Given the description of an element on the screen output the (x, y) to click on. 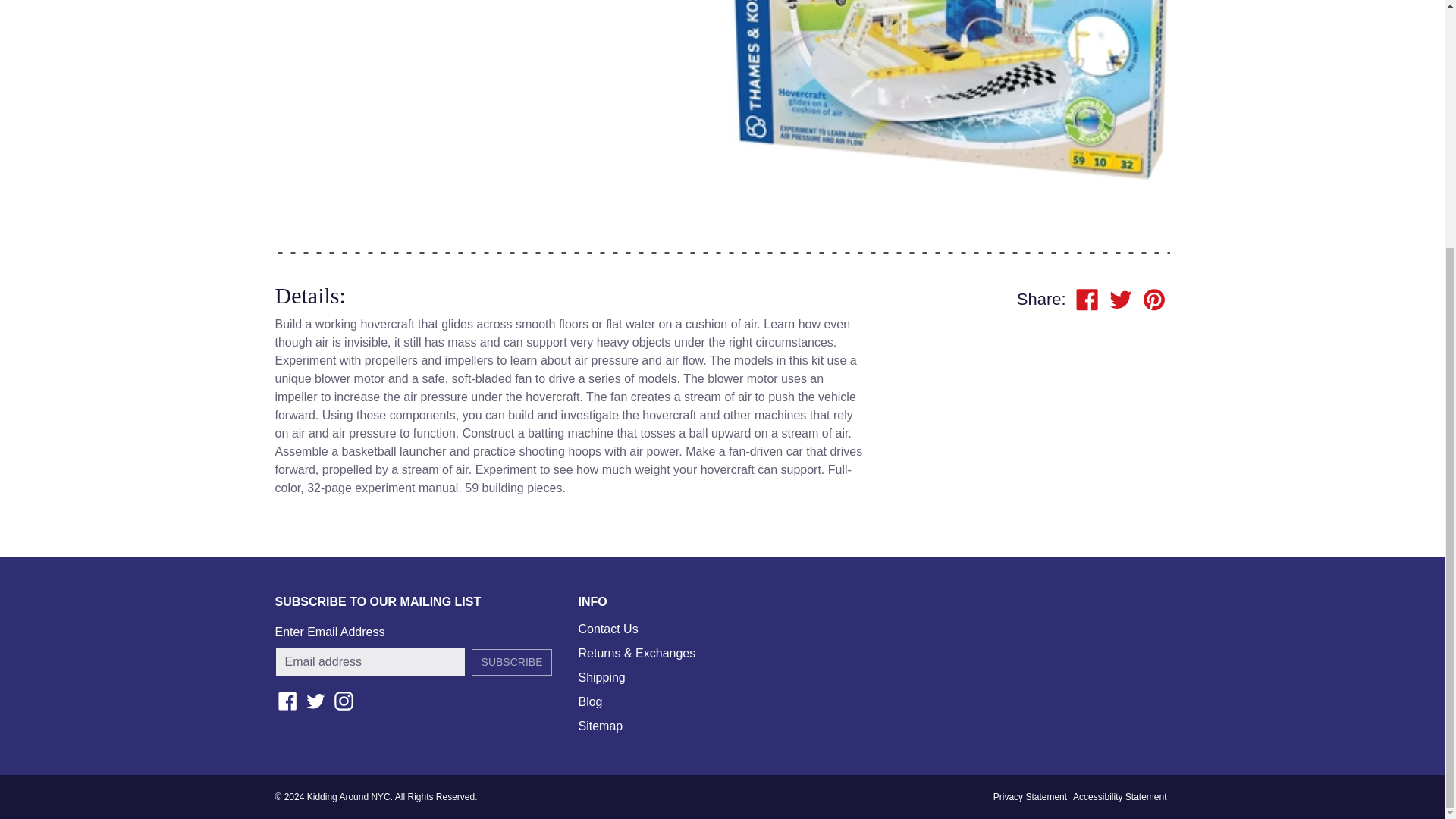
Instagram Logo (342, 700)
Twitter Logo (1120, 299)
Pinterest Logo (1154, 299)
Kidding Around NYC on Instagram (342, 700)
Facebook Logo (287, 700)
Twitter Logo (314, 700)
Kidding Around NYC on Twitter (314, 700)
Launch Accessibility Center (1119, 796)
Kidding Around NYC on Facebook (287, 700)
Facebook Logo (1087, 299)
